Given the description of an element on the screen output the (x, y) to click on. 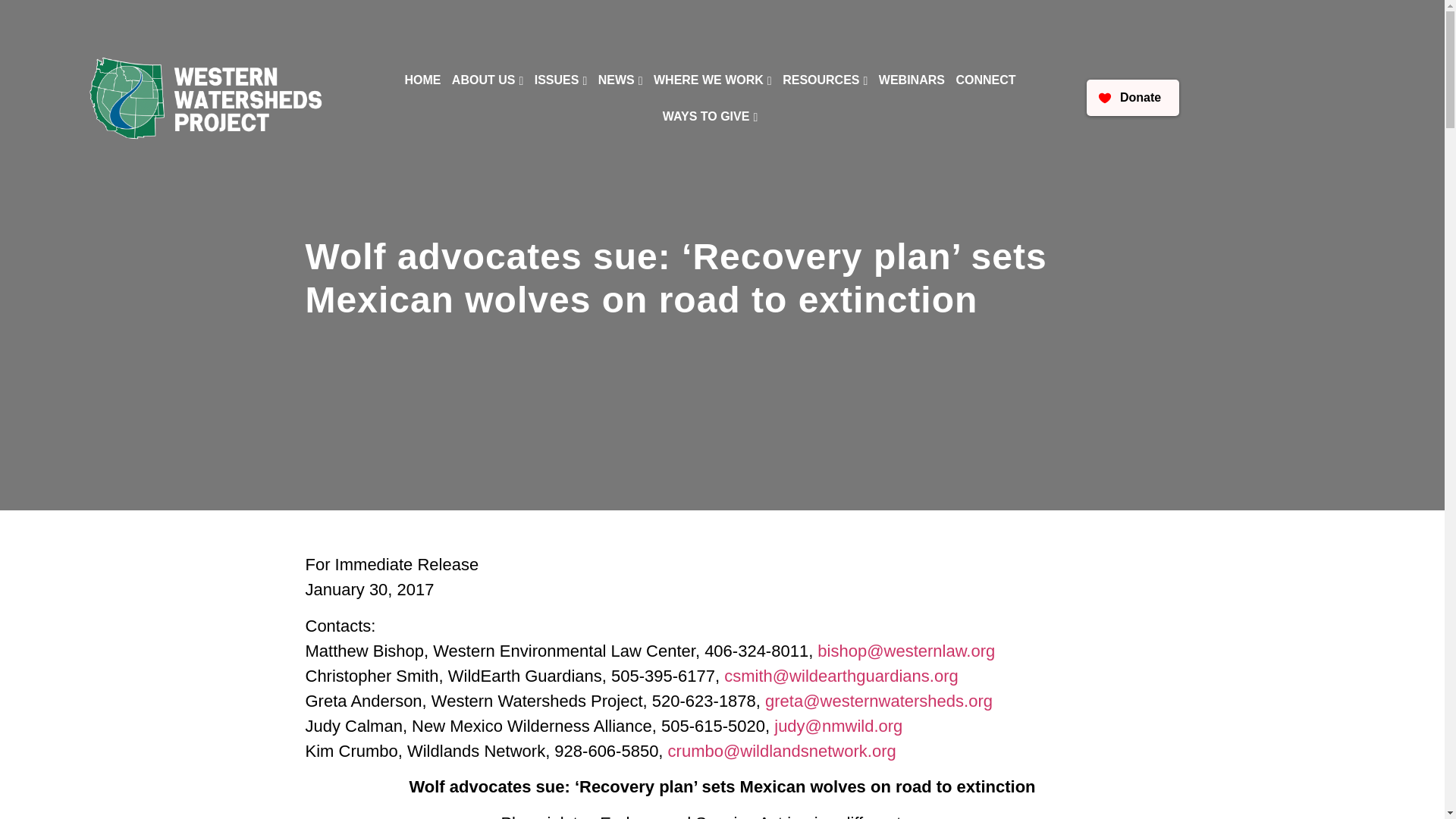
ISSUES (558, 80)
NEWS (617, 80)
RESOURCES (822, 80)
WHERE WE WORK (709, 80)
ABOUT US (484, 80)
HOME (419, 80)
